Given the description of an element on the screen output the (x, y) to click on. 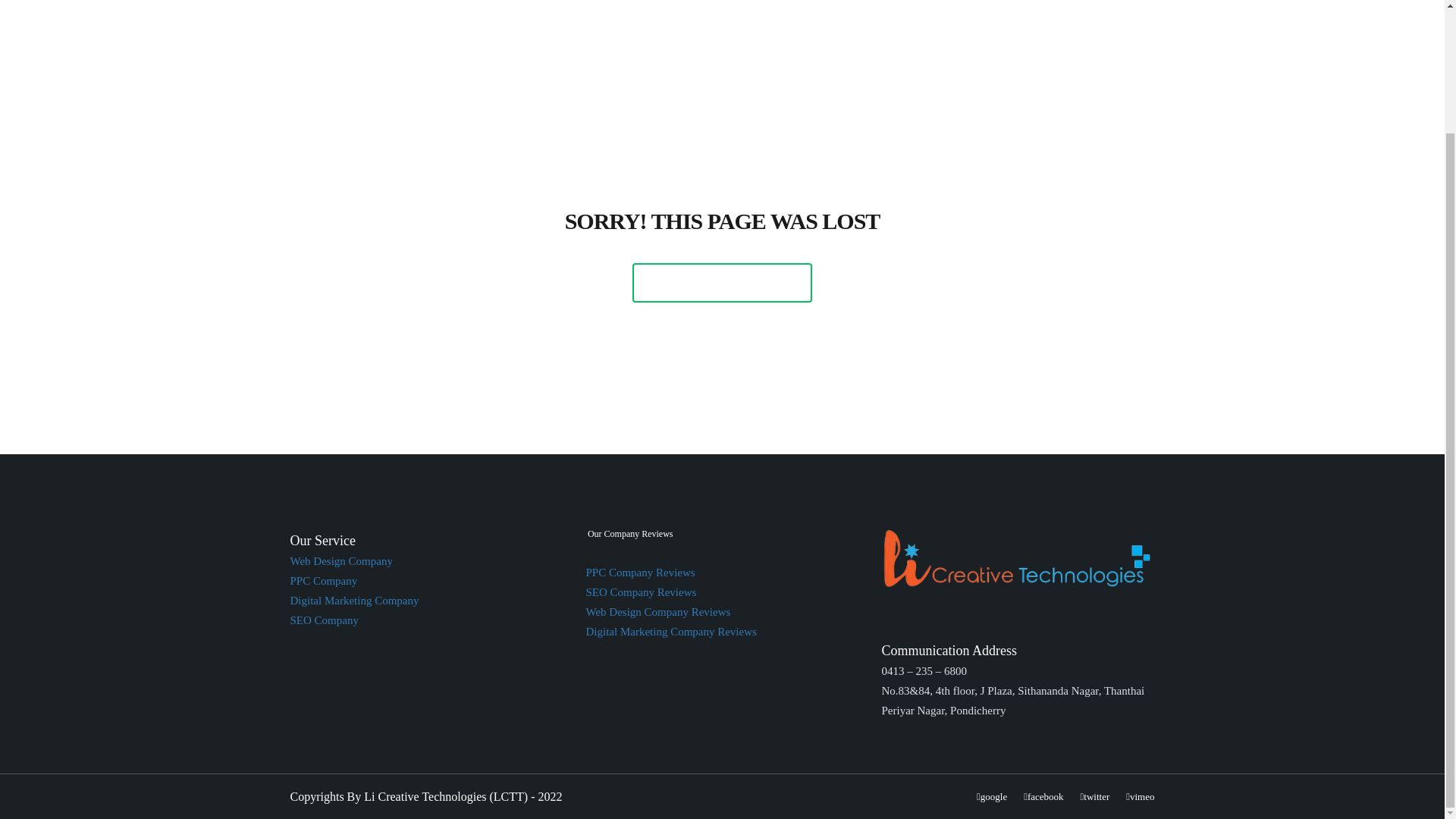
PPC Company (322, 580)
facebook (1042, 796)
Web Design Company (340, 561)
Digital Marketing Company Reviews (670, 631)
PPC Company Reviews (639, 572)
SEO Company (323, 620)
Web Design Company Reviews (657, 612)
BACK TO HOME PAGE (721, 282)
vimeo (1139, 796)
Digital Marketing Company (354, 600)
